Given the description of an element on the screen output the (x, y) to click on. 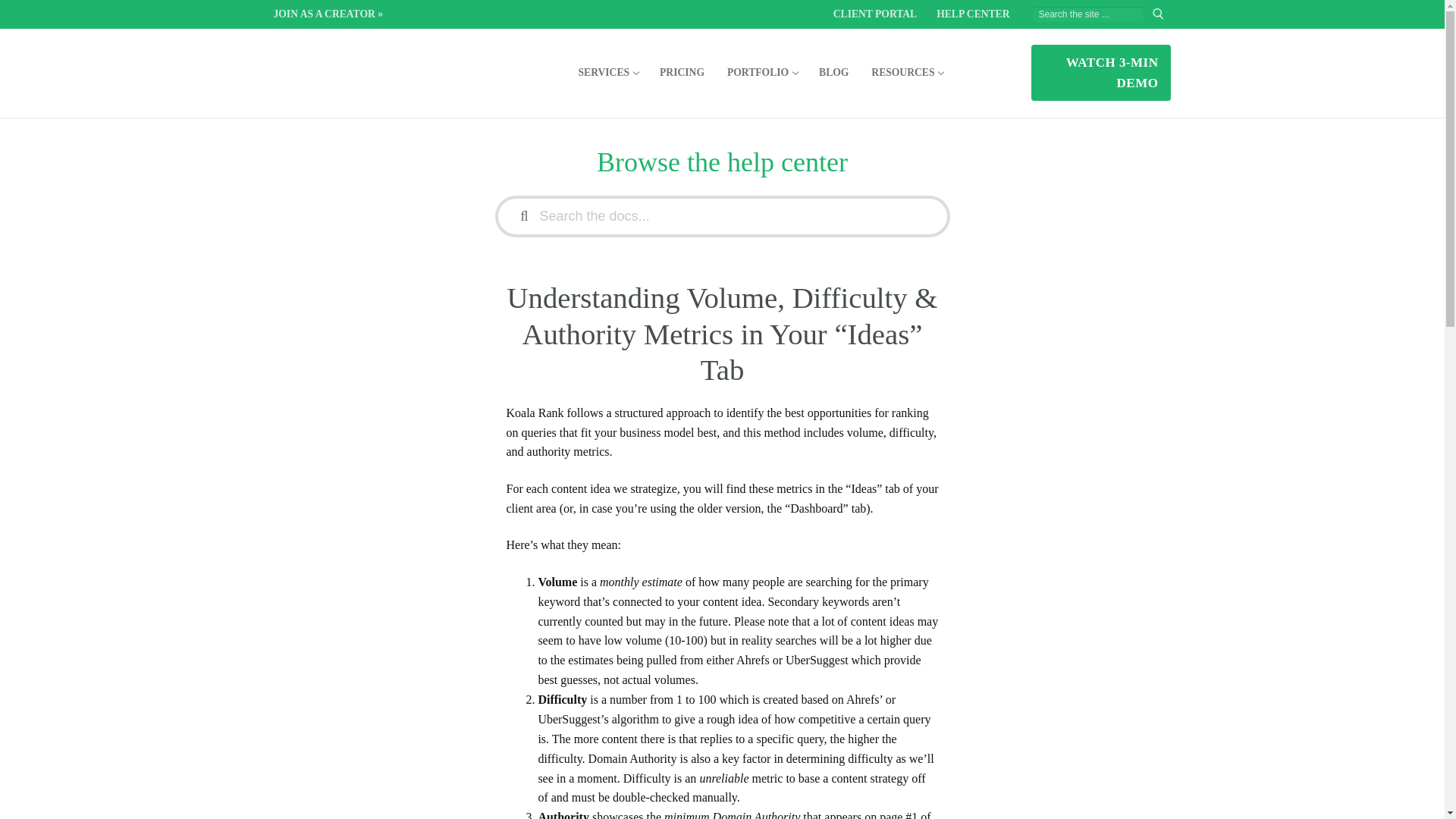
HELP CENTER (972, 14)
WATCH 3-MIN DEMO (1100, 72)
BLOG (906, 72)
Search for: (608, 72)
PRICING (834, 72)
CLIENT PORTAL (761, 72)
